Given the description of an element on the screen output the (x, y) to click on. 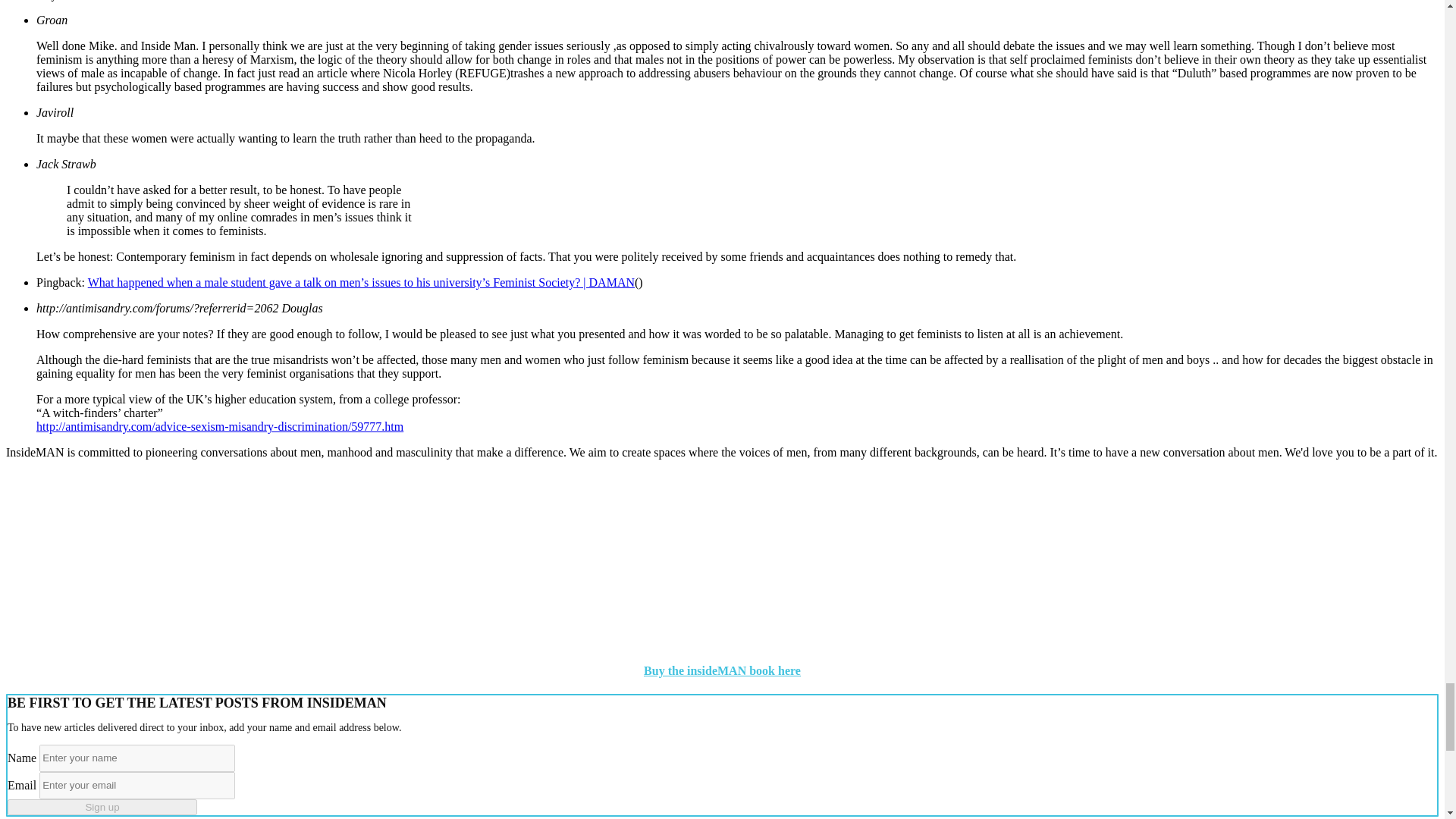
Sign up (101, 806)
Sign up (101, 806)
Buy the insideMAN book here (721, 670)
